Given the description of an element on the screen output the (x, y) to click on. 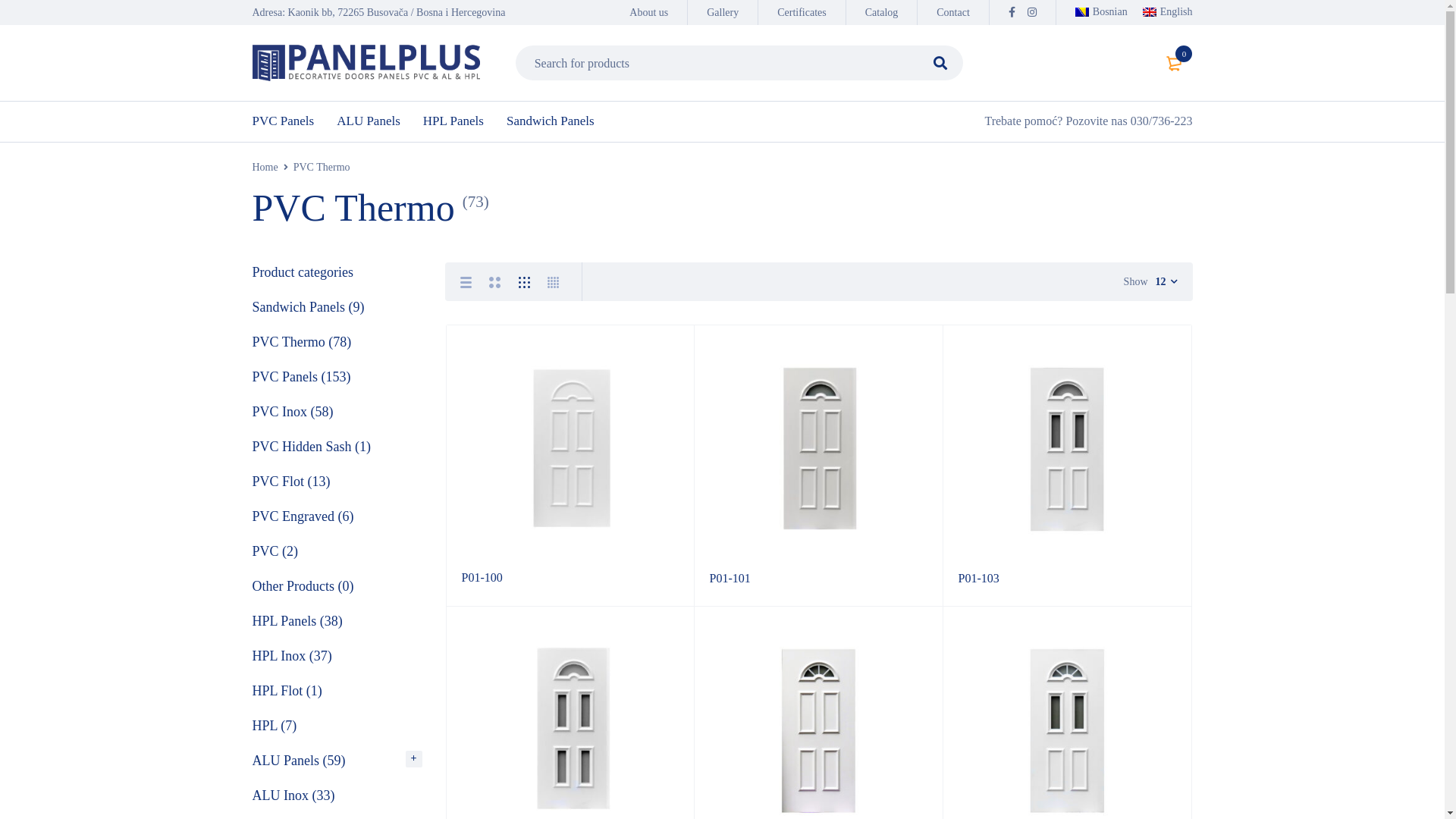
HPL Panels Element type: text (453, 121)
PVC Hidden Sash (1) Element type: text (312, 446)
Gallery Element type: text (722, 12)
P01-103 Element type: text (978, 577)
Catalog Element type: text (881, 12)
ALU Panels (59) Element type: text (299, 760)
Sandwich Panels (9) Element type: text (309, 306)
ALU Inox (33) Element type: text (294, 795)
P01-100 Element type: text (481, 577)
Contact Element type: text (952, 12)
About us Element type: text (648, 12)
Bosnian Element type: text (1108, 12)
HPL Panels (38) Element type: text (298, 620)
PVC Engraved (6) Element type: text (304, 516)
Search Element type: text (940, 97)
PVC Thermo (78) Element type: text (302, 341)
PVC Flot (13) Element type: text (292, 481)
HPL Inox (37) Element type: text (293, 655)
Certificates Element type: text (801, 12)
Sandwich Panels Element type: text (550, 121)
English Element type: text (1167, 12)
HPL (7) Element type: text (275, 725)
PVC Panels (153) Element type: text (302, 376)
PVC Inox (58) Element type: text (293, 411)
0 Element type: text (1174, 62)
Home Element type: text (264, 167)
Panelplus Element type: hover (365, 62)
P01-101 Element type: text (729, 577)
ALU Panels Element type: text (368, 121)
Other Products (0) Element type: text (304, 585)
HPL Flot (1) Element type: text (288, 690)
PVC (2) Element type: text (276, 550)
PVC Panels Element type: text (282, 121)
